Given the description of an element on the screen output the (x, y) to click on. 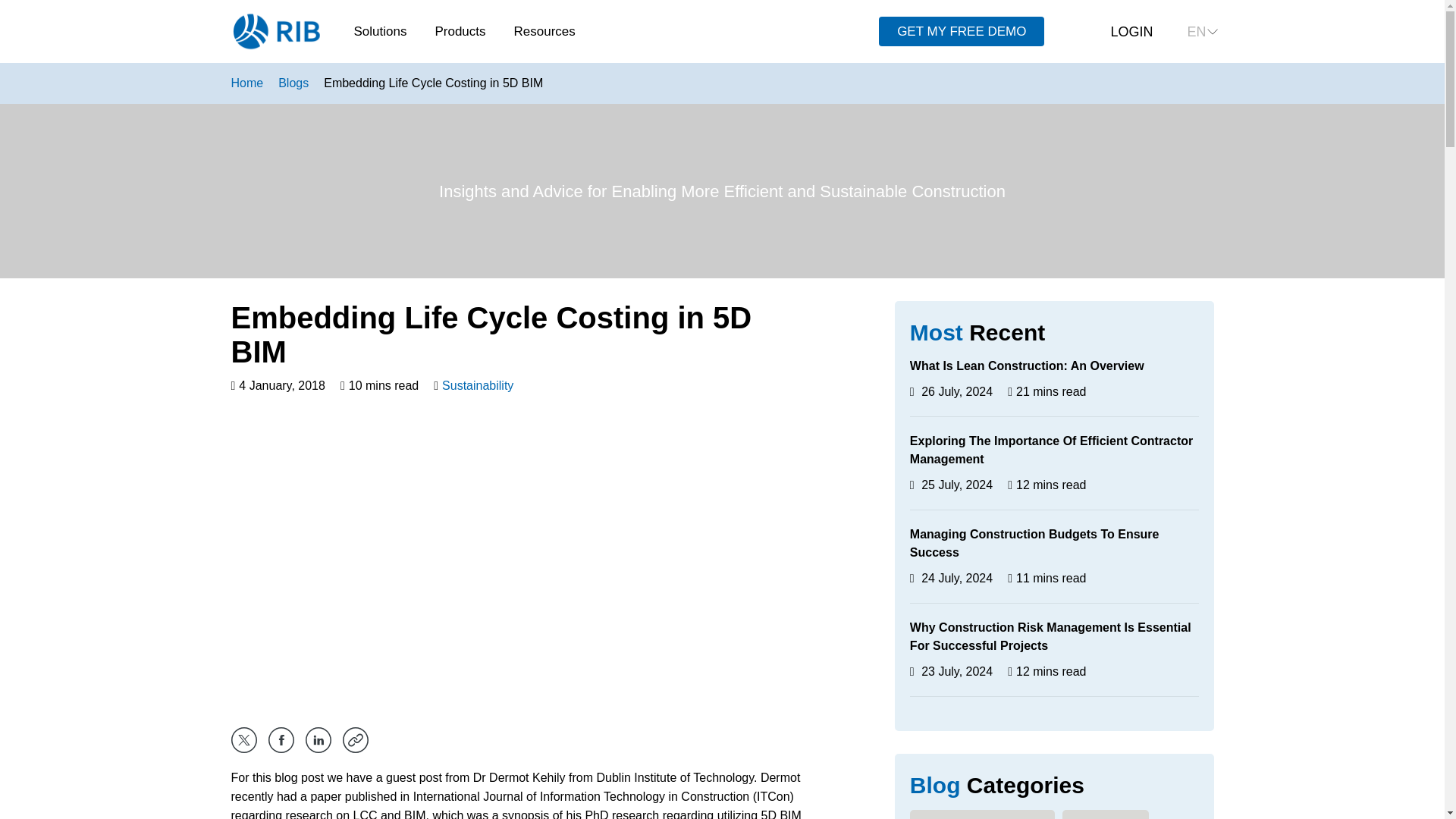
Products (465, 31)
Solutions (386, 31)
Share on Twitter (243, 739)
Share on Facebook (280, 739)
LOGIN (1121, 31)
Share on LinkedIn (317, 739)
GET MY FREE DEMO (961, 31)
